Given the description of an element on the screen output the (x, y) to click on. 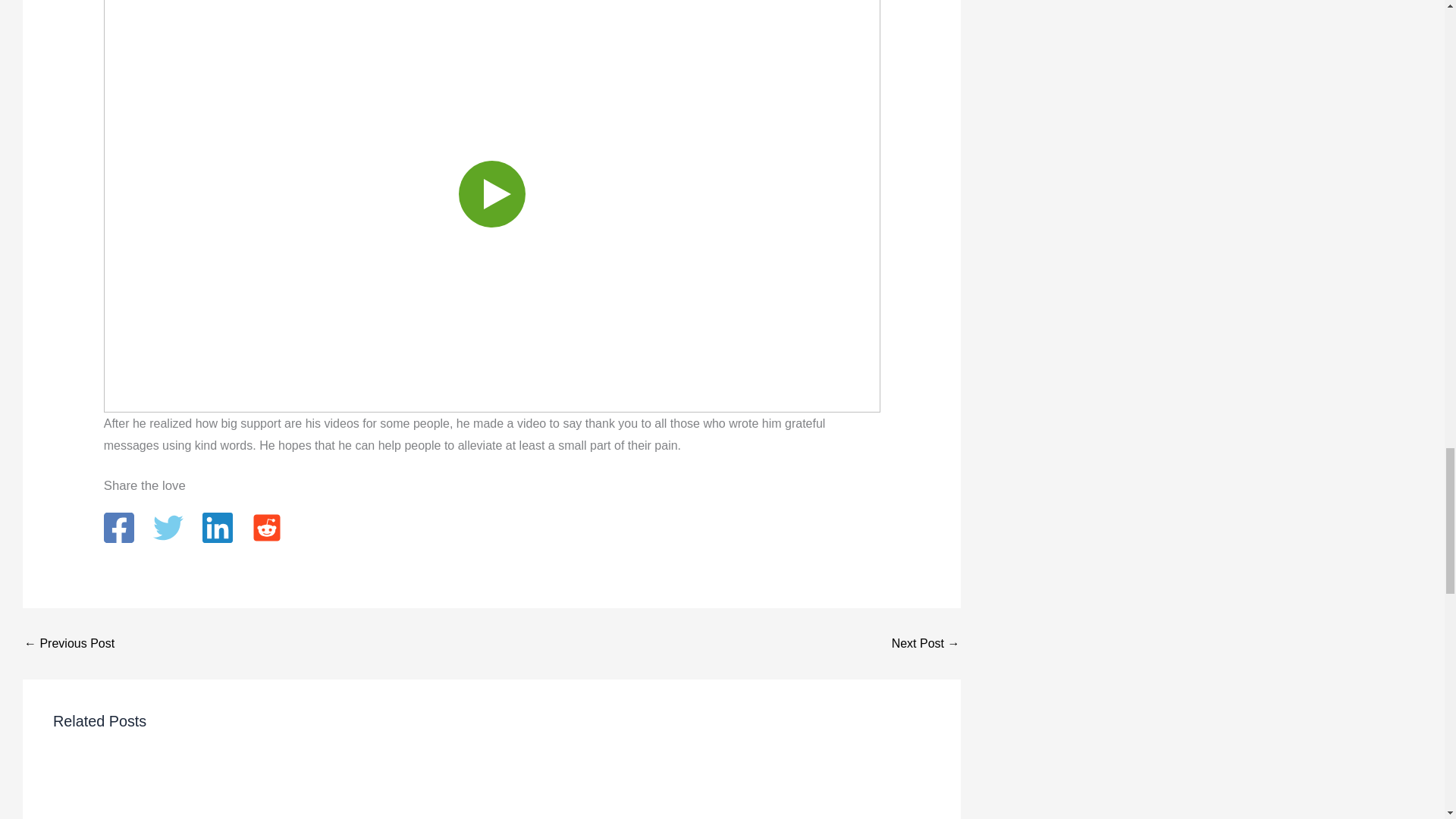
Find Out The True Meaning Of The Infinity Symbol (69, 644)
